Given the description of an element on the screen output the (x, y) to click on. 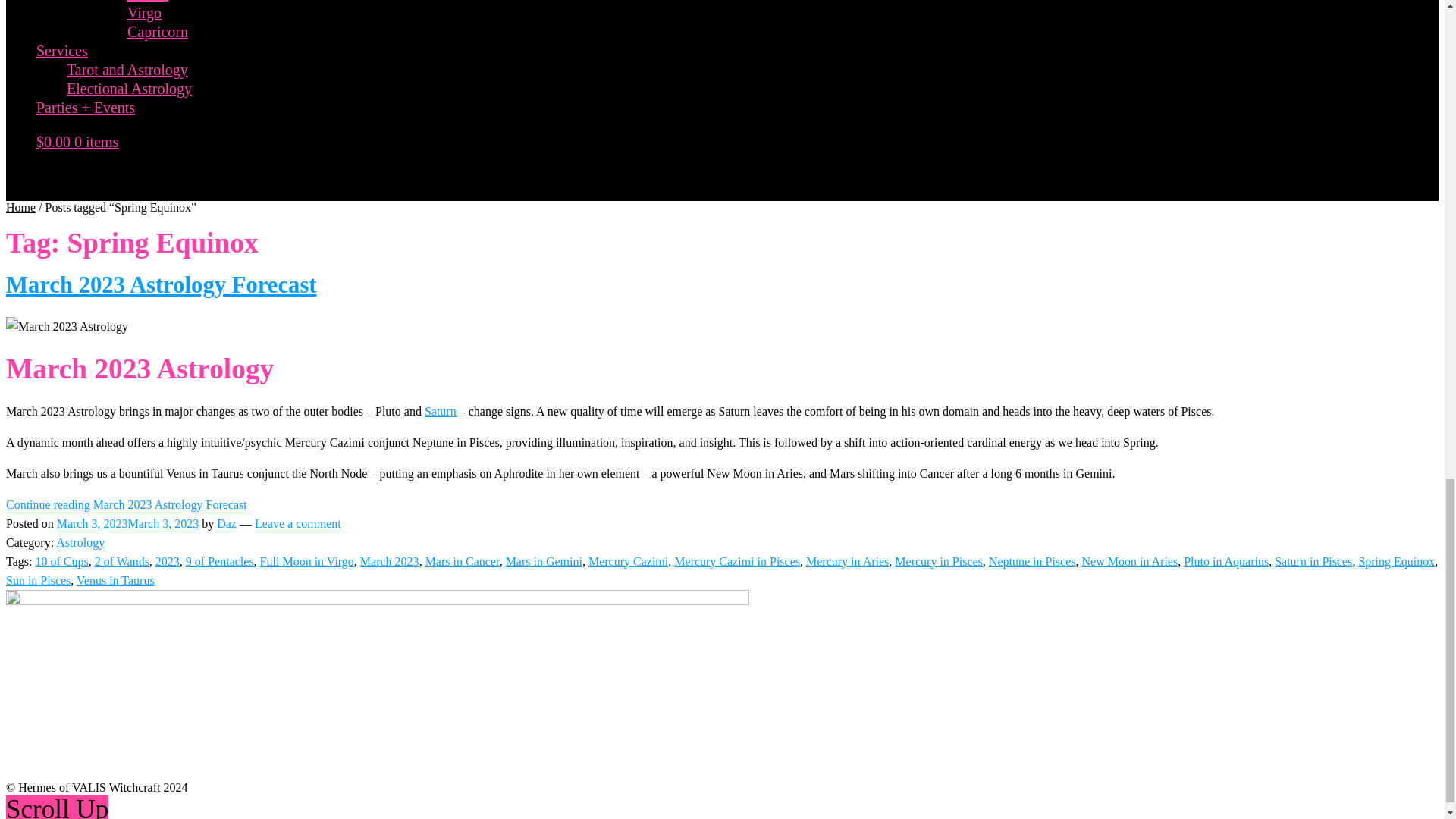
View your shopping cart (76, 141)
